Given the description of an element on the screen output the (x, y) to click on. 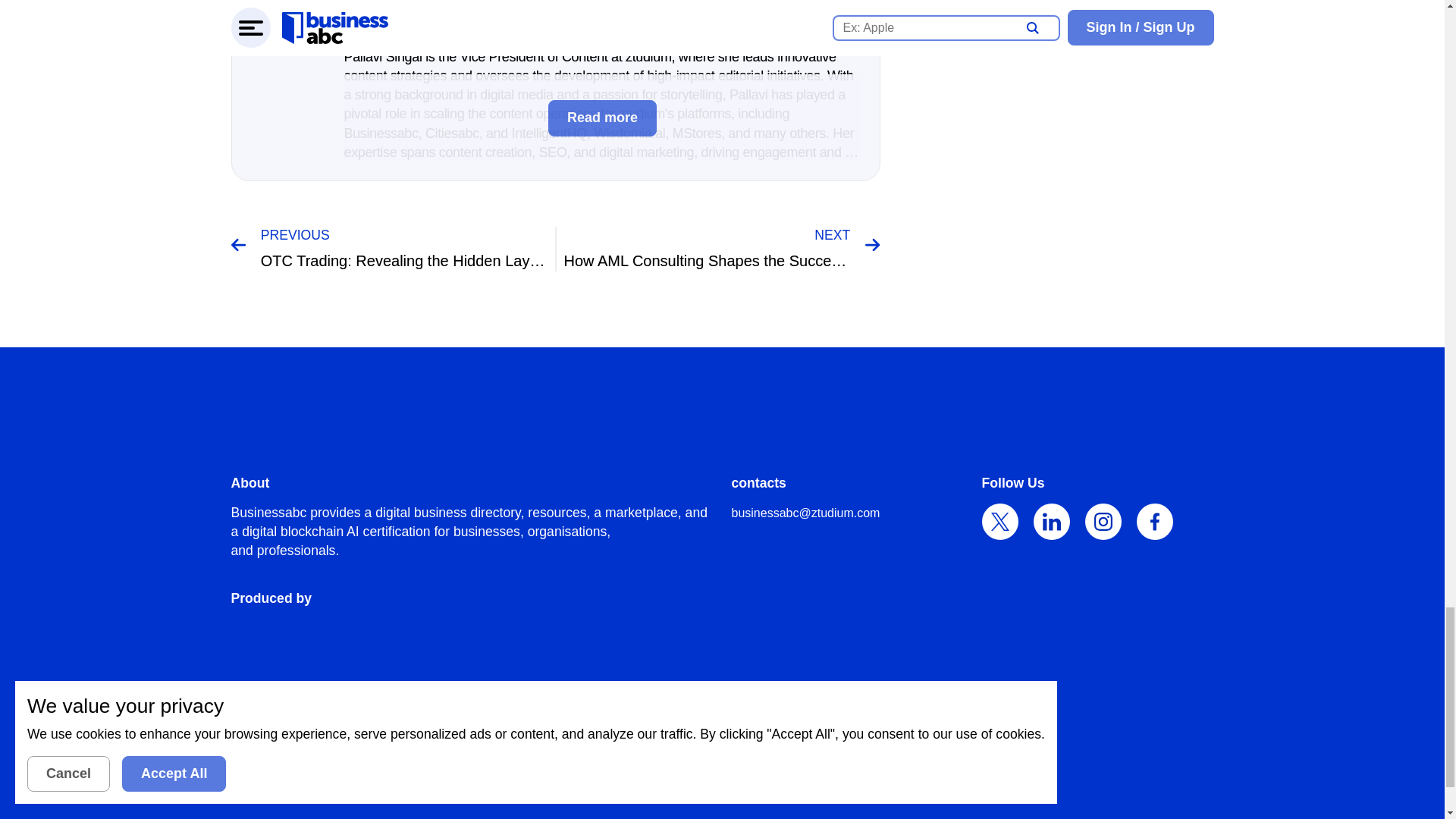
Read more (602, 117)
